Given the description of an element on the screen output the (x, y) to click on. 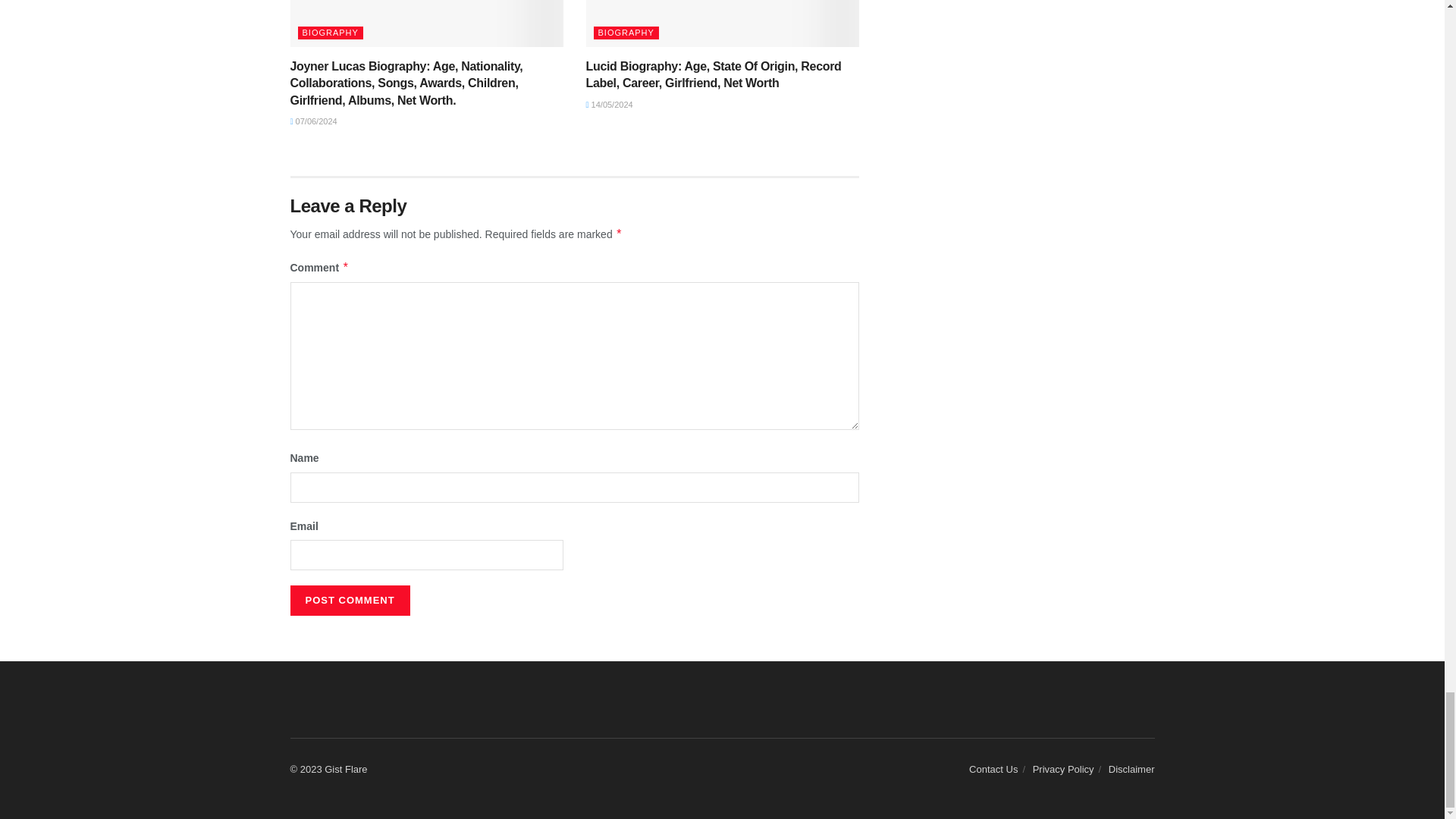
Post Comment (349, 600)
